Given the description of an element on the screen output the (x, y) to click on. 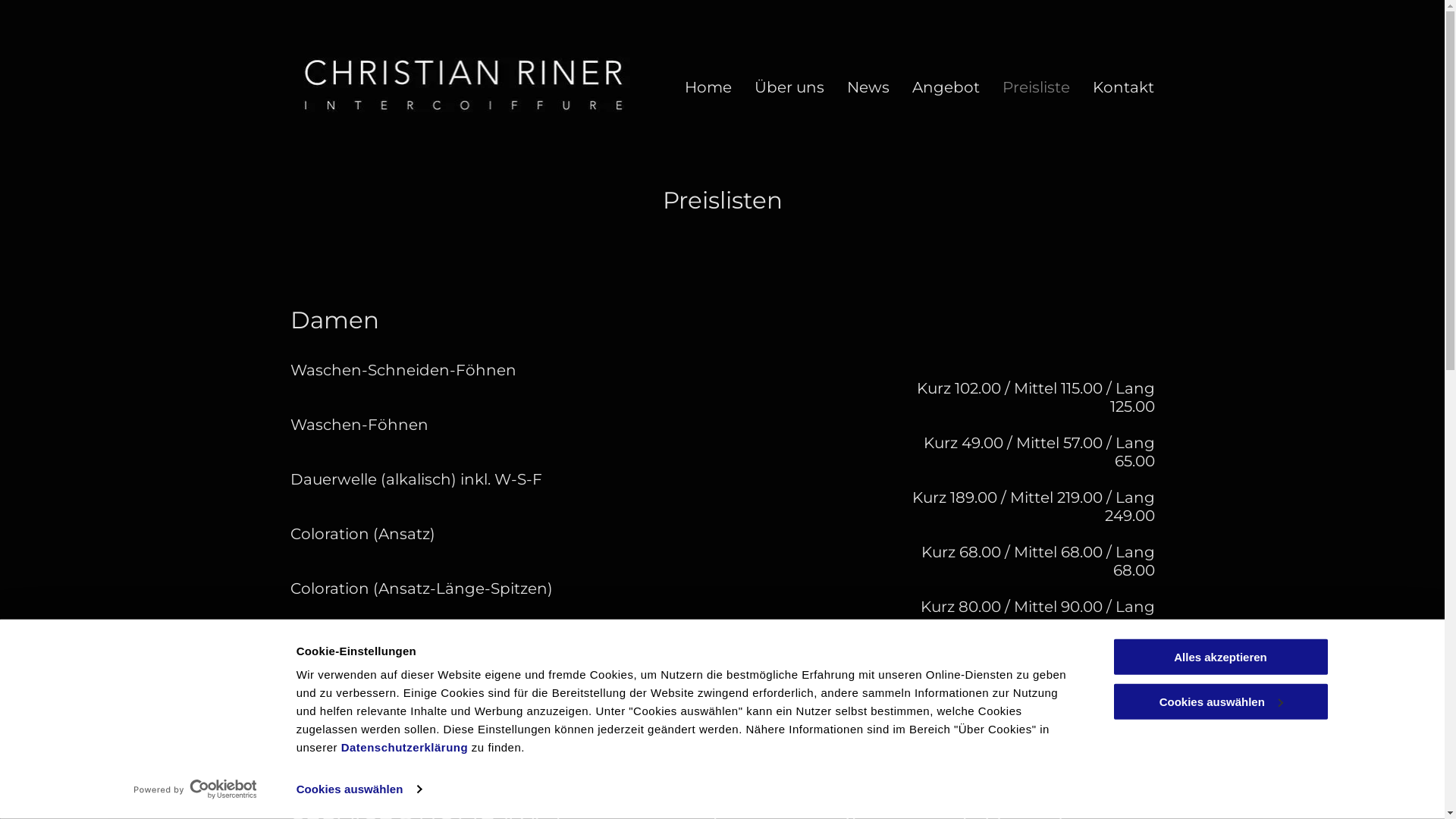
News Element type: text (868, 87)
Preisliste Element type: text (1036, 87)
Kontakt Element type: text (1123, 87)
Angebot Element type: text (945, 87)
Home Element type: text (707, 87)
Alles akzeptieren Element type: text (1219, 656)
